Given the description of an element on the screen output the (x, y) to click on. 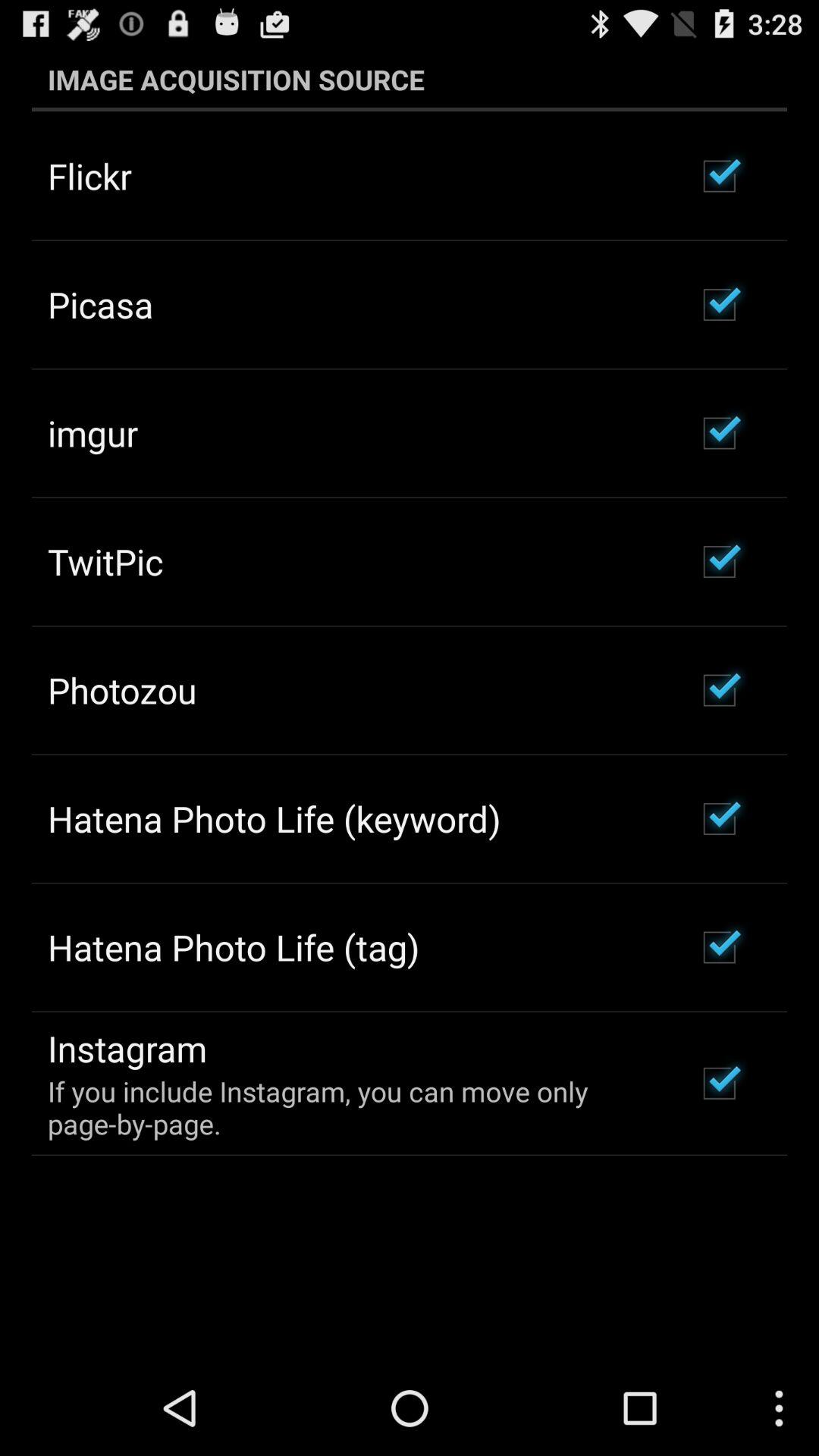
choose image acquisition source at the top (409, 79)
